Given the description of an element on the screen output the (x, y) to click on. 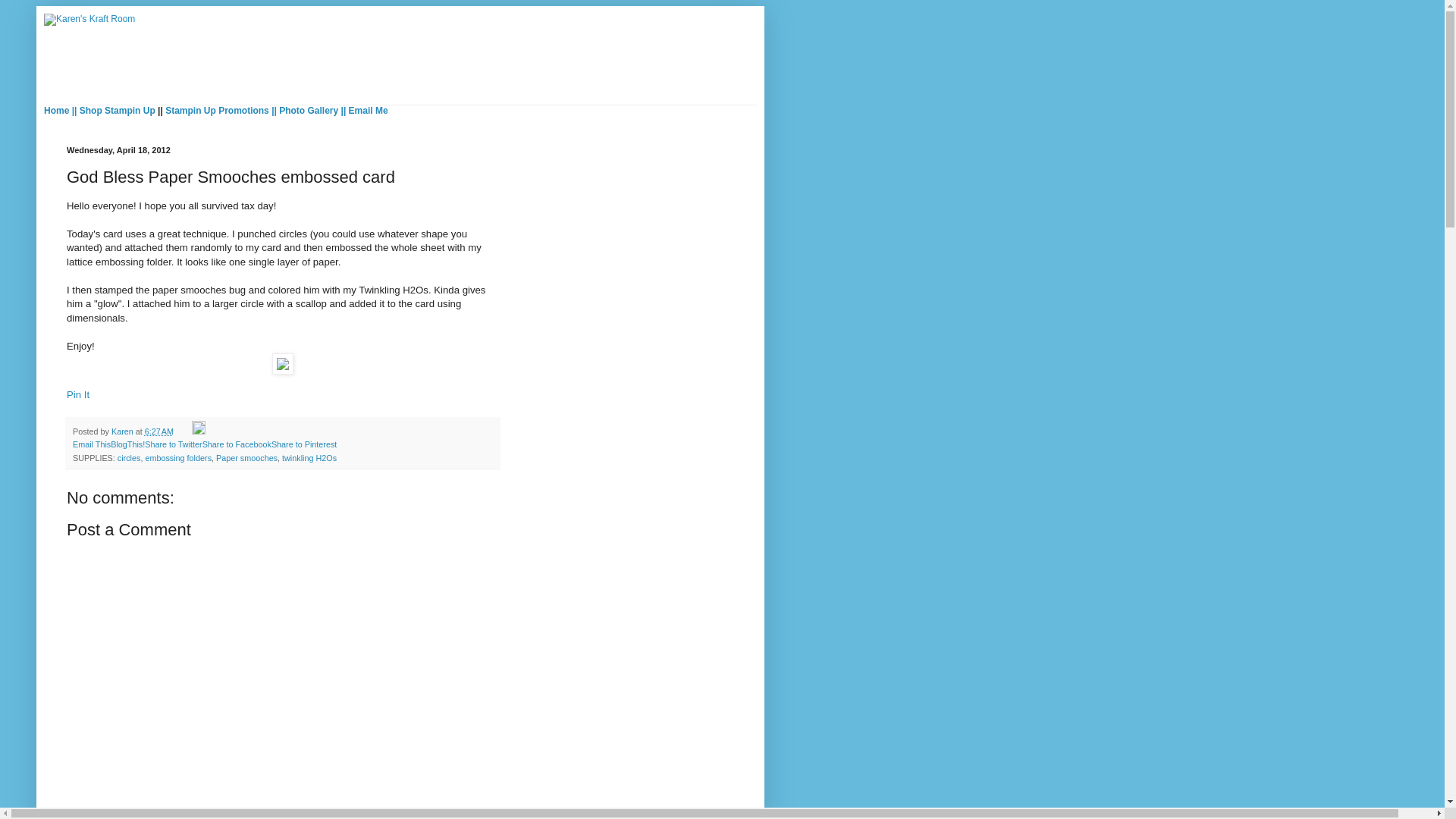
BlogThis! (127, 443)
Share to Twitter (173, 443)
Share to Pinterest (303, 443)
Edit Post (198, 430)
Pin It (77, 394)
author profile (123, 430)
Paper smooches (246, 457)
Share to Twitter (173, 443)
Share to Facebook (236, 443)
Share to Facebook (236, 443)
Shop Stampin Up (117, 110)
Email This (91, 443)
twinkling H2Os (309, 457)
circles (129, 457)
